Given the description of an element on the screen output the (x, y) to click on. 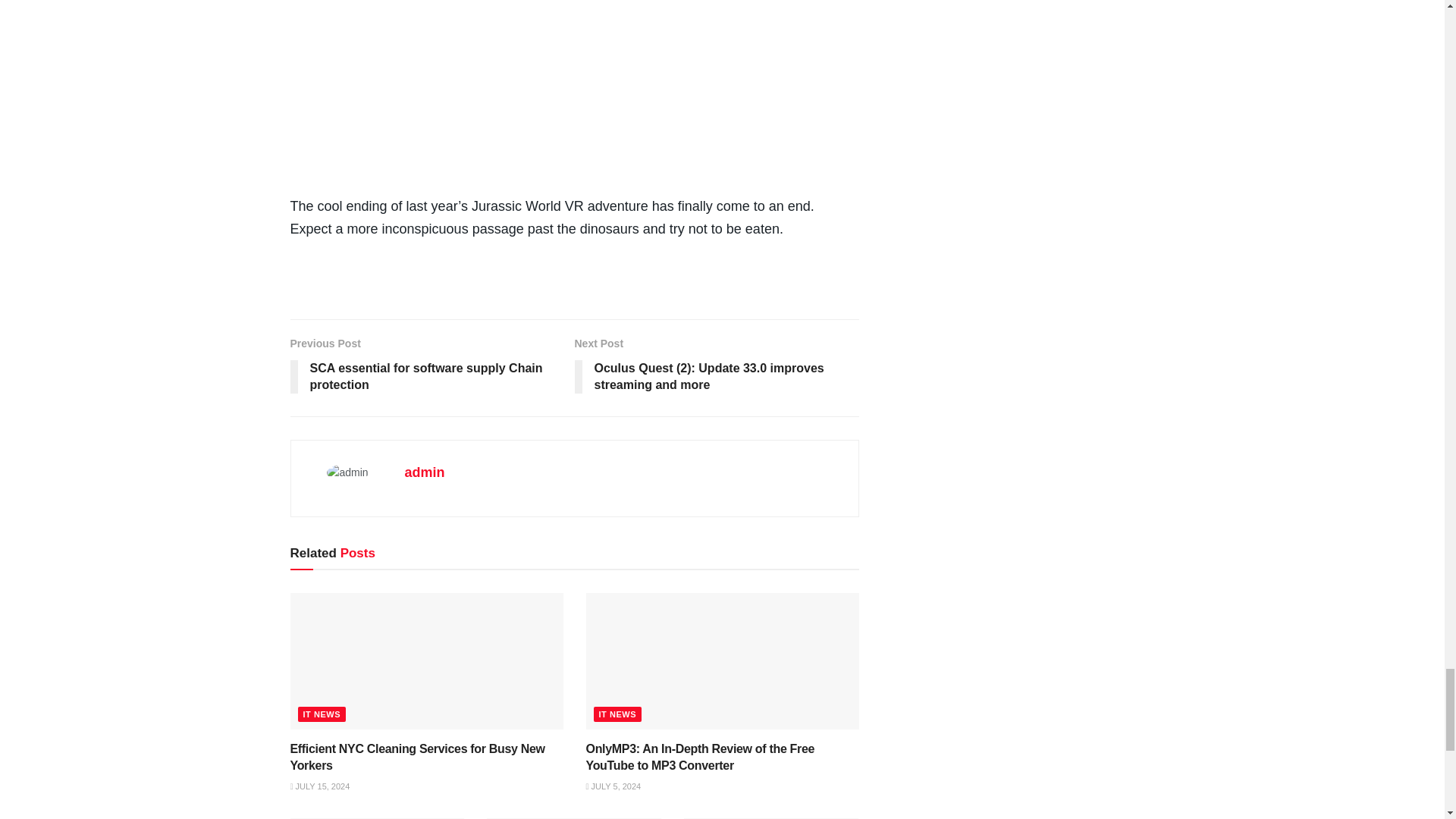
Efficient NYC Cleaning Services for Busy New Yorkers (416, 756)
admin (424, 472)
IT NEWS (321, 713)
IT NEWS (617, 713)
JULY 15, 2024 (319, 786)
JULY 5, 2024 (612, 786)
